Given the description of an element on the screen output the (x, y) to click on. 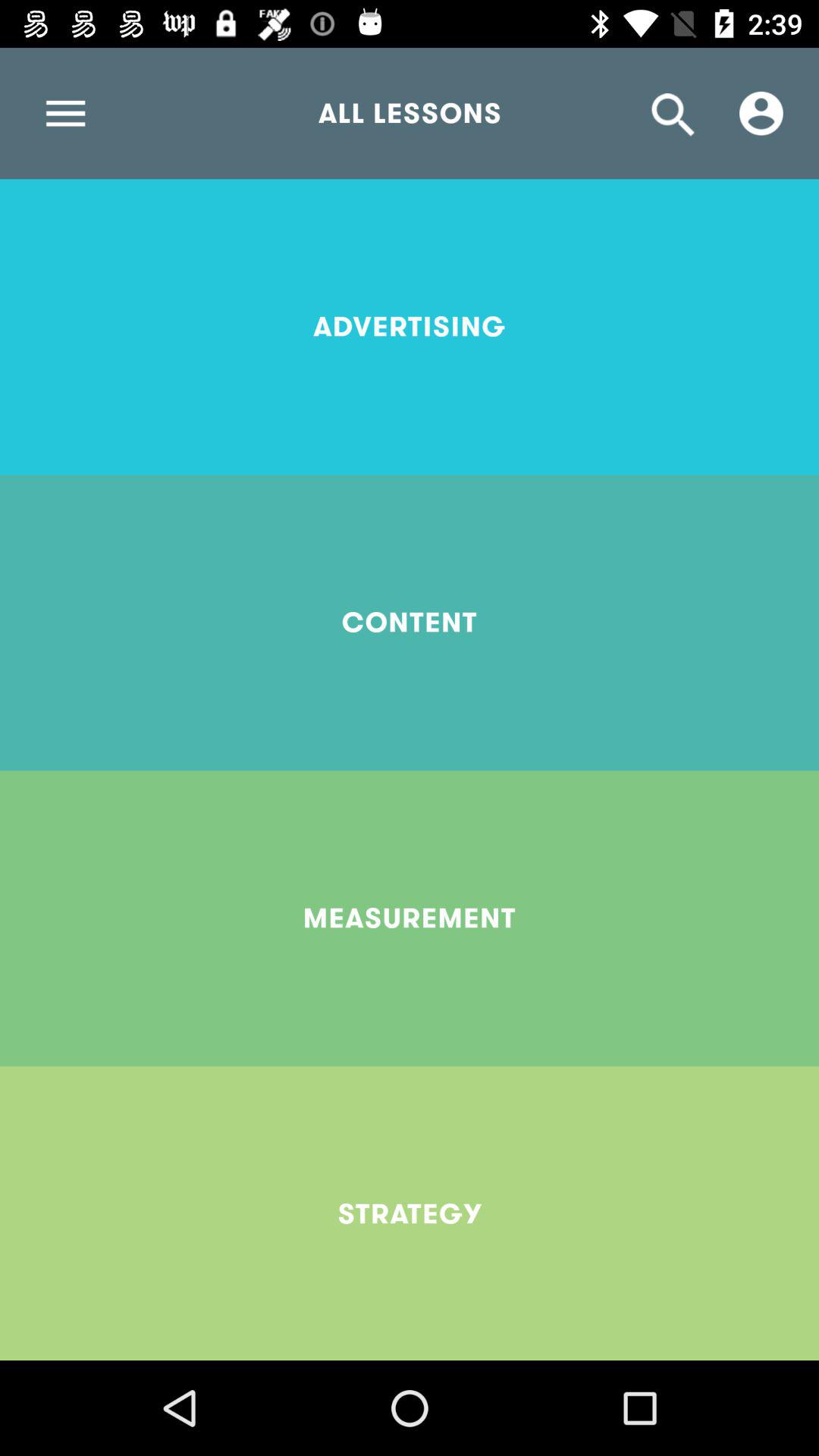
turn on the icon to the right of all lessons icon (761, 113)
